Given the description of an element on the screen output the (x, y) to click on. 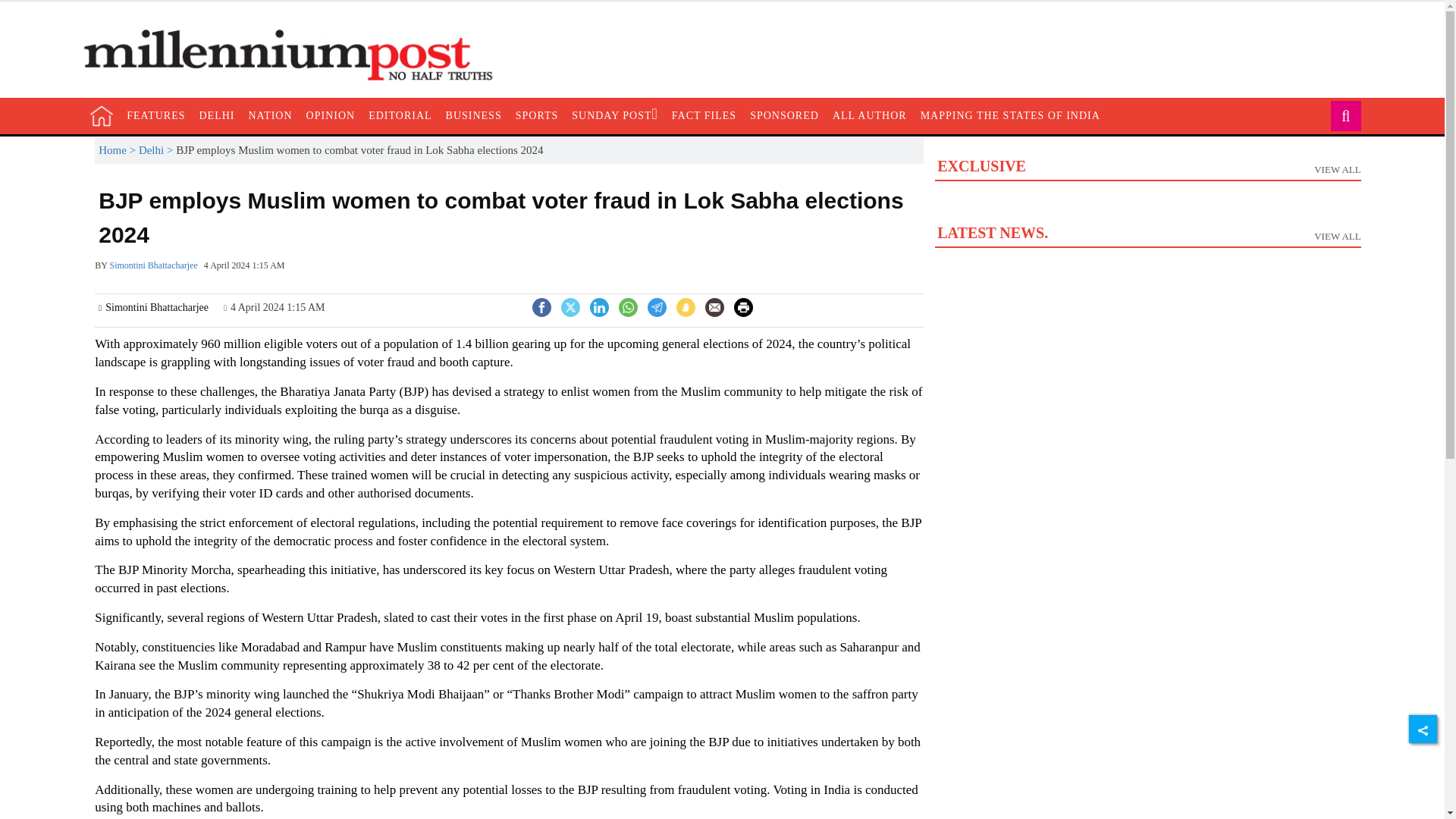
DELHI (216, 115)
Print (742, 305)
ALL AUTHOR (869, 115)
FACT FILES (703, 115)
SPORTS (537, 115)
OPINION (330, 115)
koo (685, 307)
telegram (656, 307)
whatsapp (628, 307)
FEATURES (155, 115)
